Given the description of an element on the screen output the (x, y) to click on. 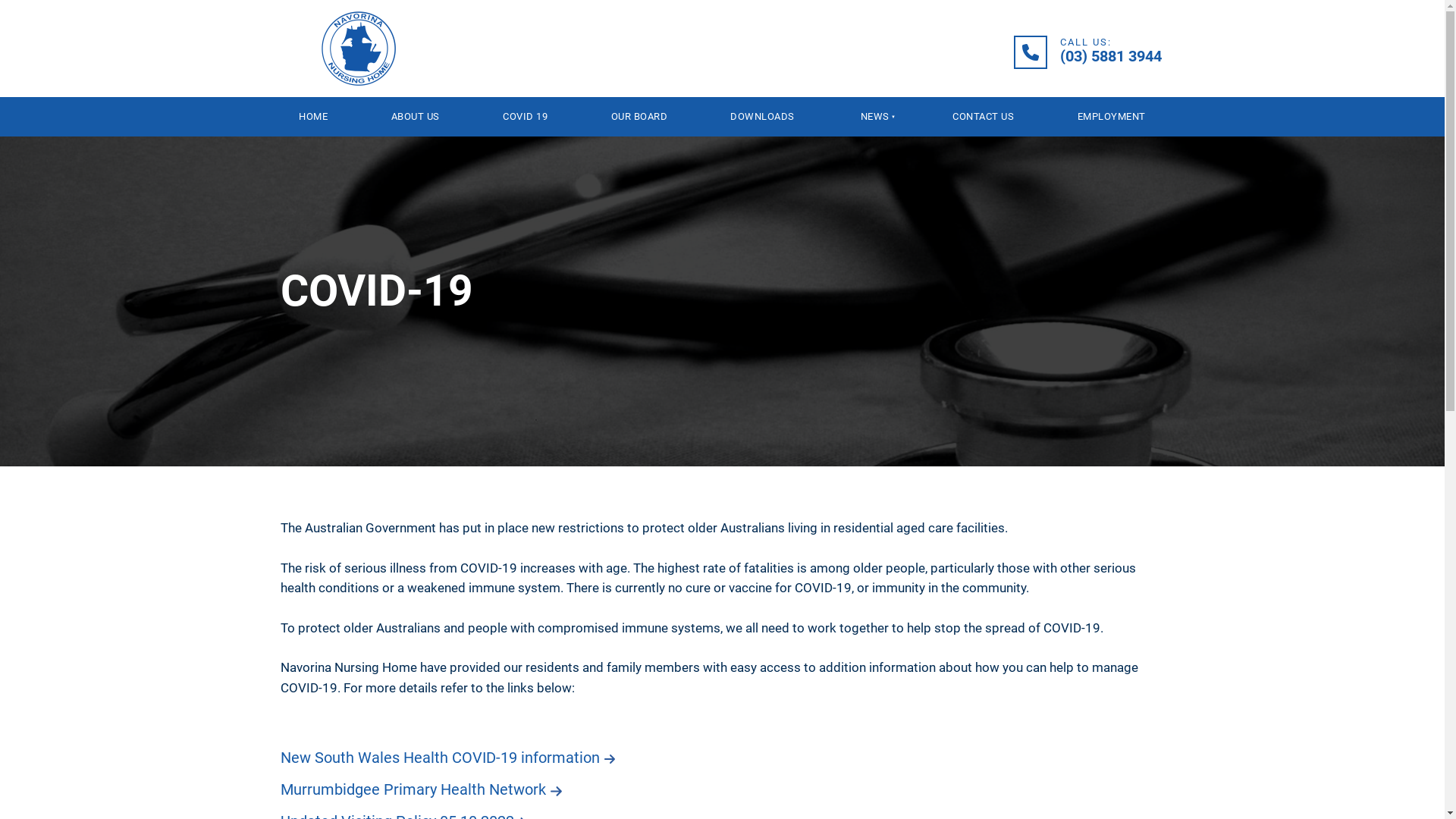
NEWS Element type: text (873, 116)
COVID 19 Element type: text (524, 116)
DOWNLOADS Element type: text (762, 116)
Murrumbidgee Primary Health Network Element type: text (413, 789)
ABOUT US Element type: text (414, 116)
EMPLOYMENT Element type: text (1110, 116)
OUR BOARD Element type: text (639, 116)
New South Wales Health COVID-19 information Element type: text (439, 757)
CONTACT US Element type: text (983, 116)
HOME Element type: text (312, 116)
